Given the description of an element on the screen output the (x, y) to click on. 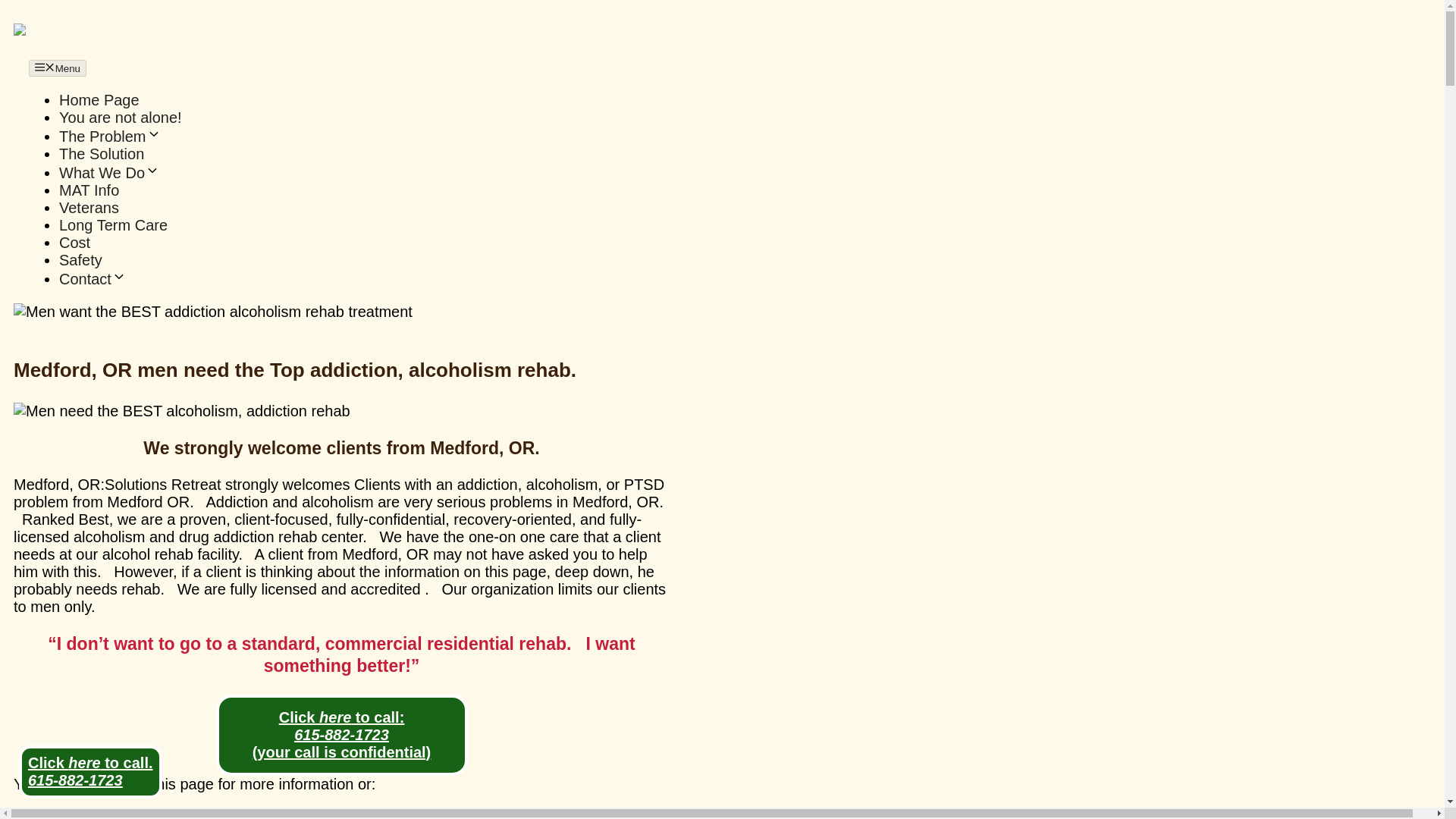
Contact (92, 279)
What We Do (109, 172)
Cost (74, 242)
Safety (80, 259)
Menu (57, 67)
The Problem (110, 135)
You are not alone! (120, 117)
The Solution (101, 153)
Skip to content (63, 13)
Veterans (89, 207)
